Given the description of an element on the screen output the (x, y) to click on. 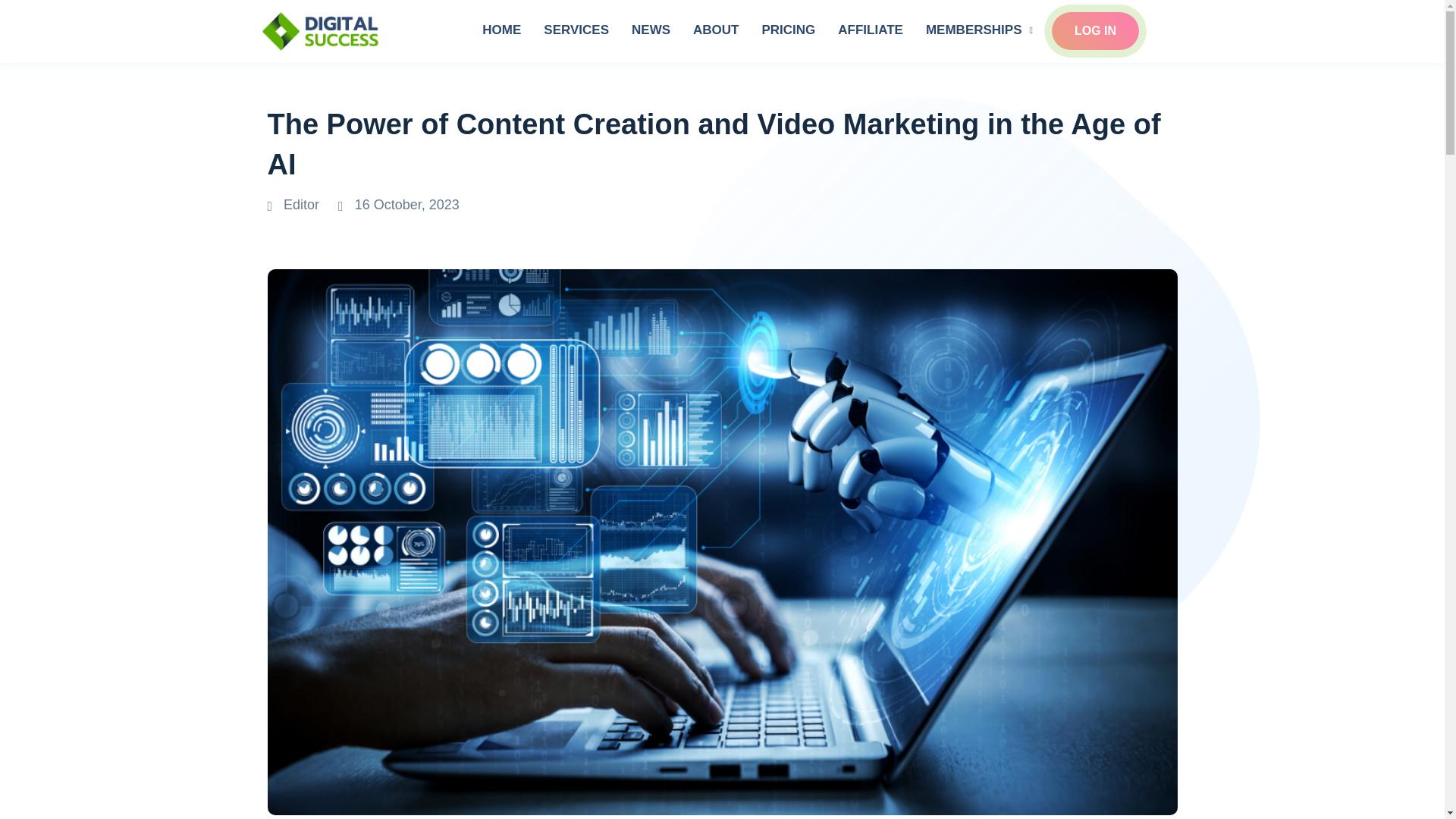
HOME (501, 29)
LOG IN (1094, 30)
ABOUT (715, 29)
SERVICES (576, 29)
16 October, 2023 (398, 204)
Editor (294, 204)
PRICING (788, 29)
AFFILIATE (870, 29)
NEWS (650, 29)
MEMBERSHIPS (982, 29)
